Given the description of an element on the screen output the (x, y) to click on. 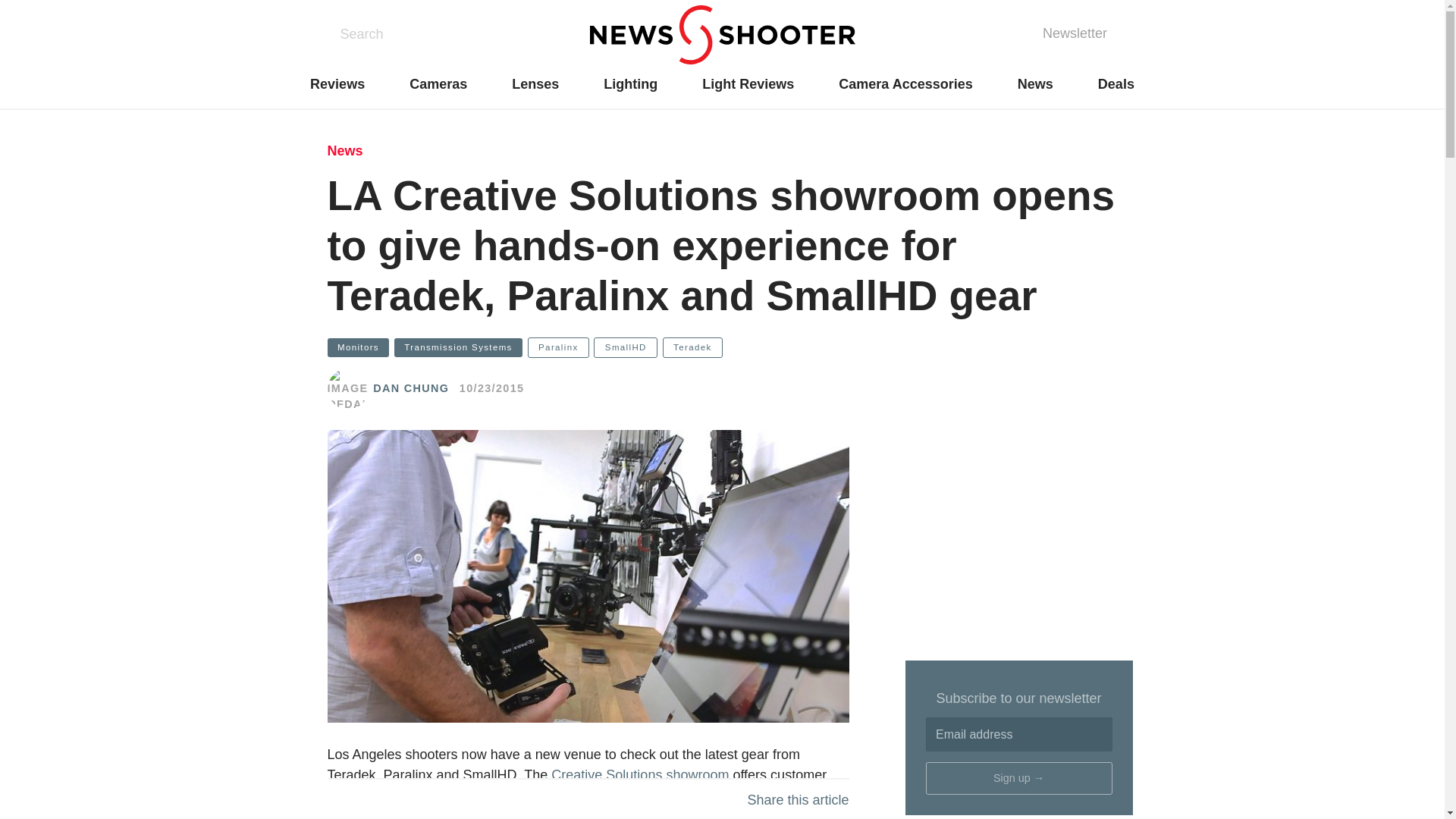
Monitors Transmission Systems Paralinx SmallHD Teradek (722, 346)
Lenses (535, 84)
Monitors (358, 347)
Paralinx (558, 347)
Creative Solutions showroom (640, 774)
Newsletter (1073, 34)
SmallHD (626, 347)
Deals (1115, 84)
Teradek (692, 347)
Search (359, 35)
Transmission Systems (458, 347)
Lighting (631, 84)
Cameras (438, 84)
DAN CHUNG (410, 388)
